Given the description of an element on the screen output the (x, y) to click on. 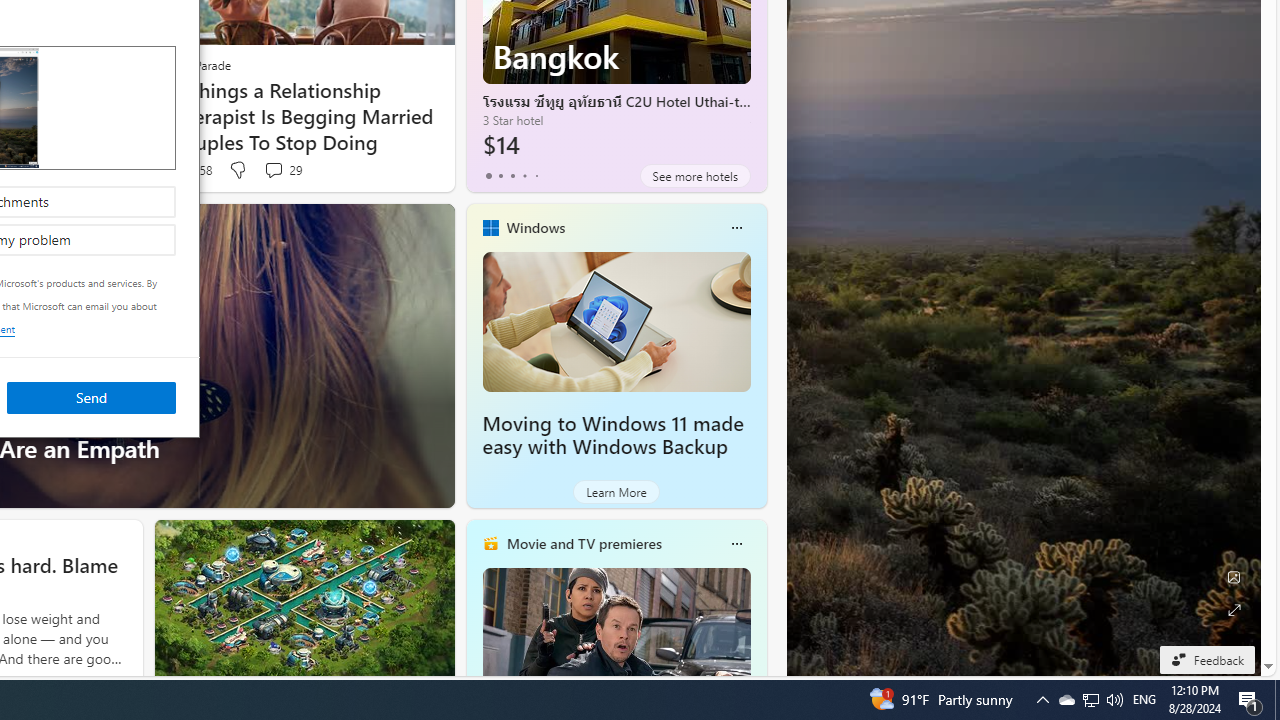
Moving to Windows 11 made easy with Windows Backup (612, 435)
See more hotels (694, 175)
Expand background (1233, 610)
Edit Background (1233, 577)
Send (91, 396)
tab-0 (488, 175)
Class: icon-img (736, 543)
tab-1 (500, 175)
tab-3 (524, 175)
User Promoted Notification Area (1090, 699)
Windows (535, 227)
Moving to Windows 11 made easy with Windows Backup (616, 321)
View comments 29 Comment (281, 170)
Tray Input Indicator - English (United States) (1144, 699)
